Given the description of an element on the screen output the (x, y) to click on. 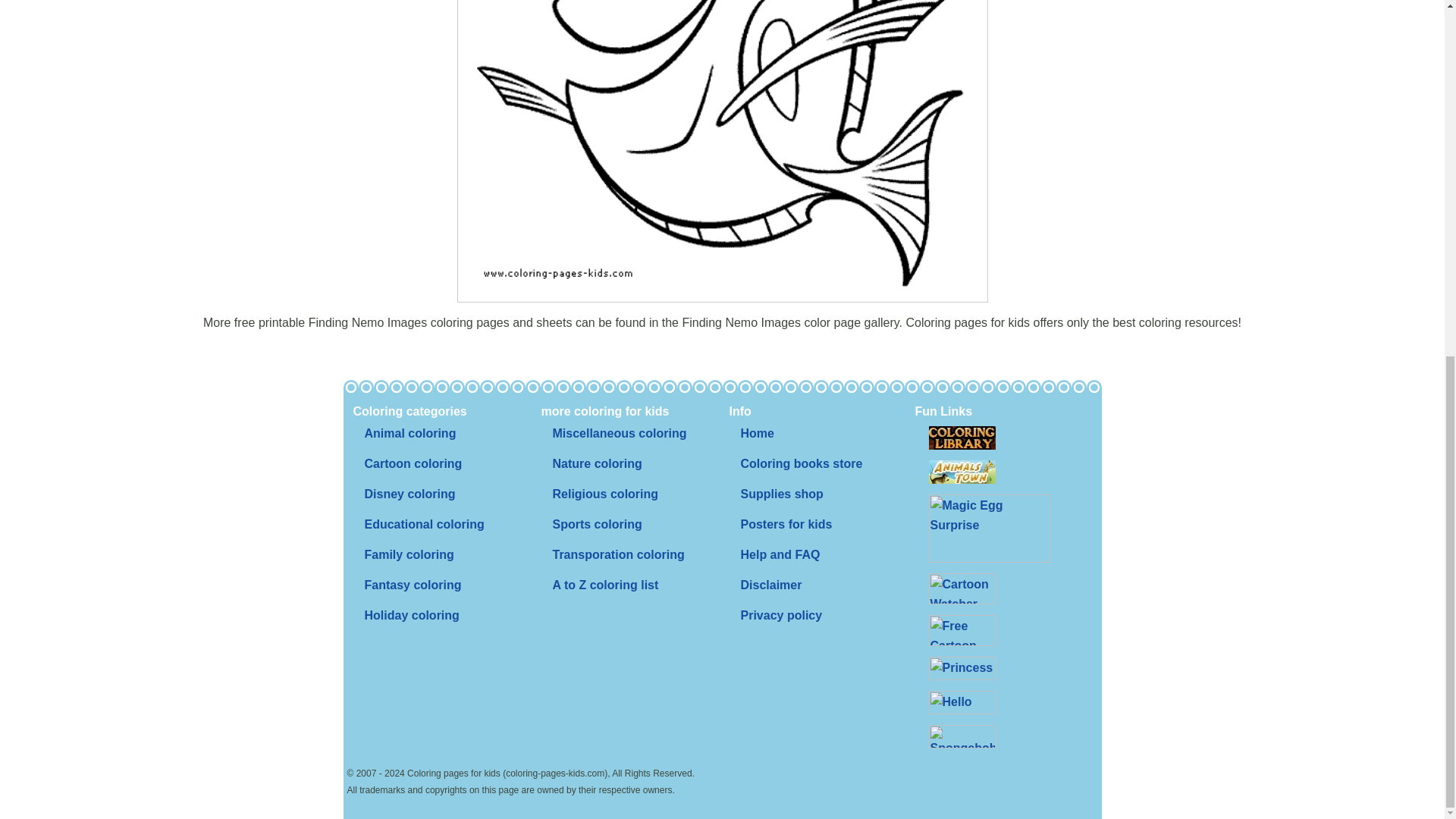
Hello Kitty Fun Stuff Downloads (961, 702)
Princess Games (961, 668)
spongebob squarepants wallpapers, downloads and more (961, 736)
Posters for kids (785, 524)
Educational coloring (423, 524)
Cartoon coloring (413, 463)
Nature coloring (596, 463)
Supplies shop (780, 494)
Home (756, 433)
